Given the description of an element on the screen output the (x, y) to click on. 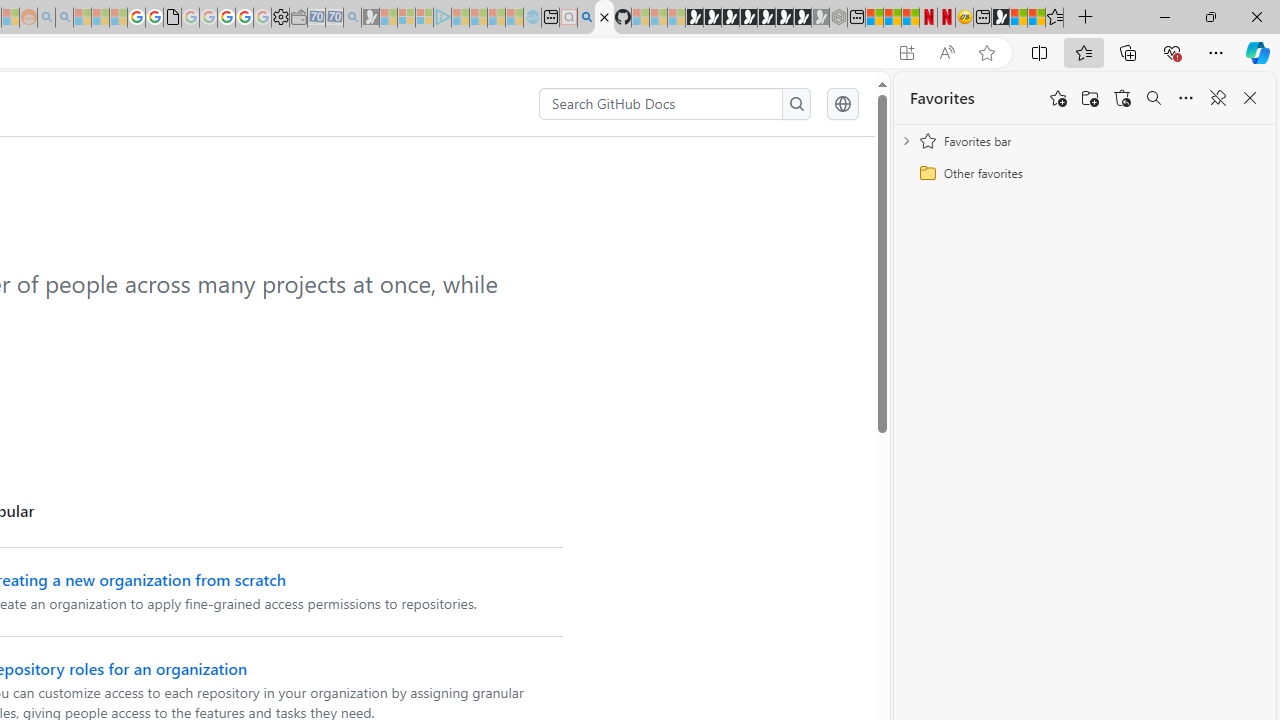
Microsoft Start Gaming - Sleeping (370, 17)
github - Search (586, 17)
Home | Sky Blue Bikes - Sky Blue Bikes - Sleeping (532, 17)
Search favorites (1153, 98)
Close favorites (1250, 98)
App available. Install GitHub Docs (906, 53)
Restore deleted favorites (1122, 98)
Wildlife - MSN (1017, 17)
Search GitHub Docs (661, 103)
